Given the description of an element on the screen output the (x, y) to click on. 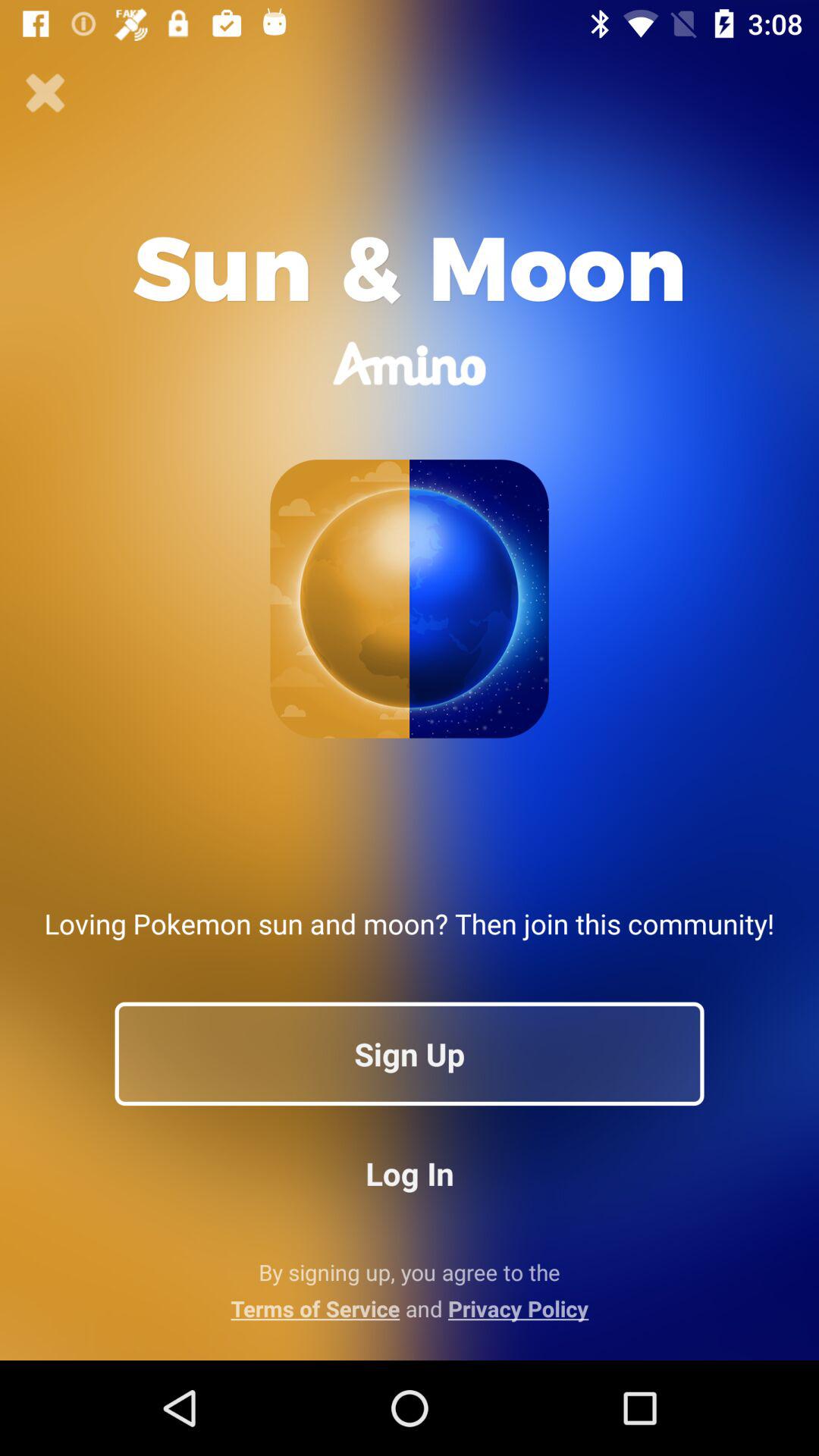
press icon above loving pokemon sun icon (45, 93)
